Given the description of an element on the screen output the (x, y) to click on. 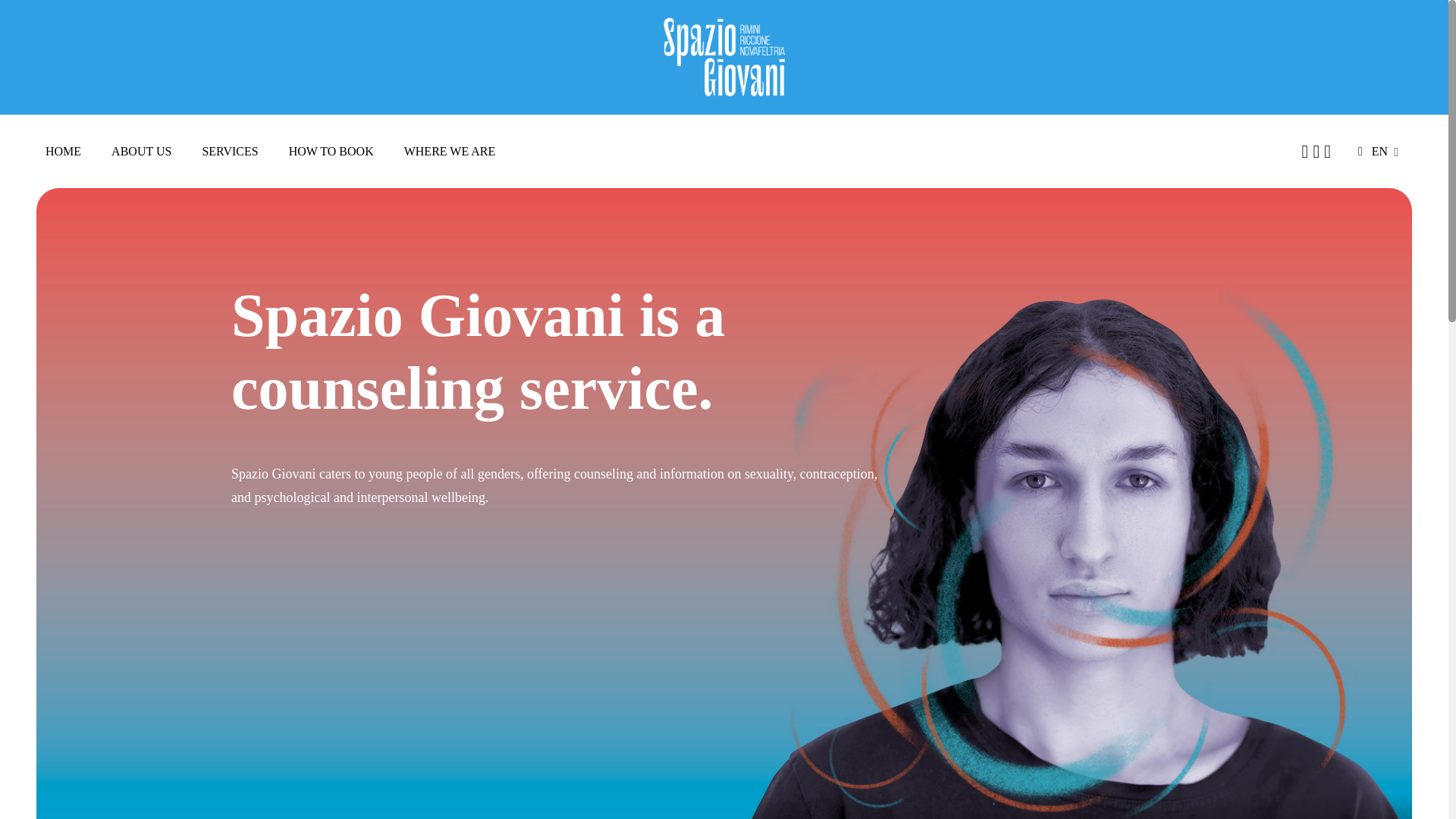
HOME (63, 151)
HOW TO BOOK (331, 151)
SERVICES (229, 151)
HOW TO BOOK (172, 542)
Cookies Setting (1178, 732)
0541 747 600 (590, 485)
331 403 1906 (768, 485)
Privacy Policy (1009, 732)
ABOUT US (137, 343)
HOME (103, 276)
